Given the description of an element on the screen output the (x, y) to click on. 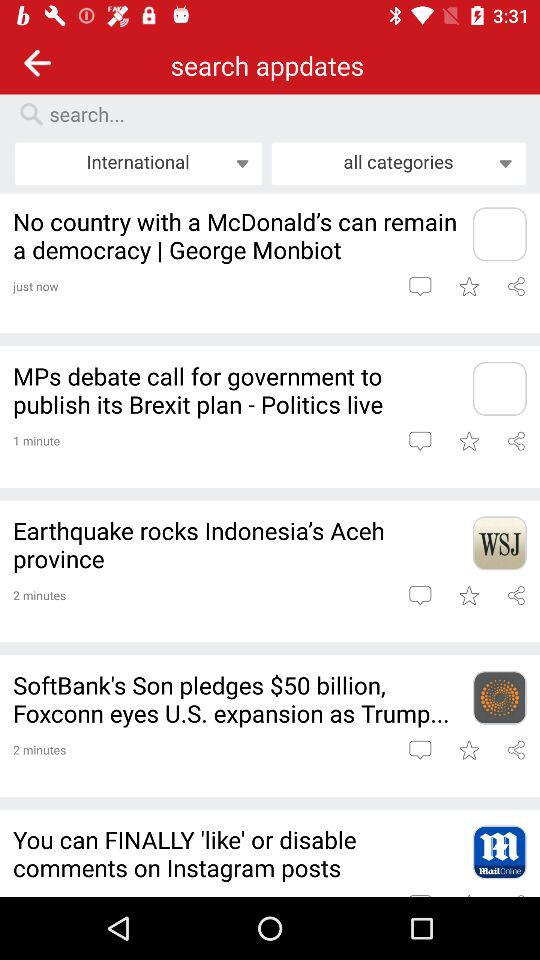
click to save (468, 595)
